Given the description of an element on the screen output the (x, y) to click on. 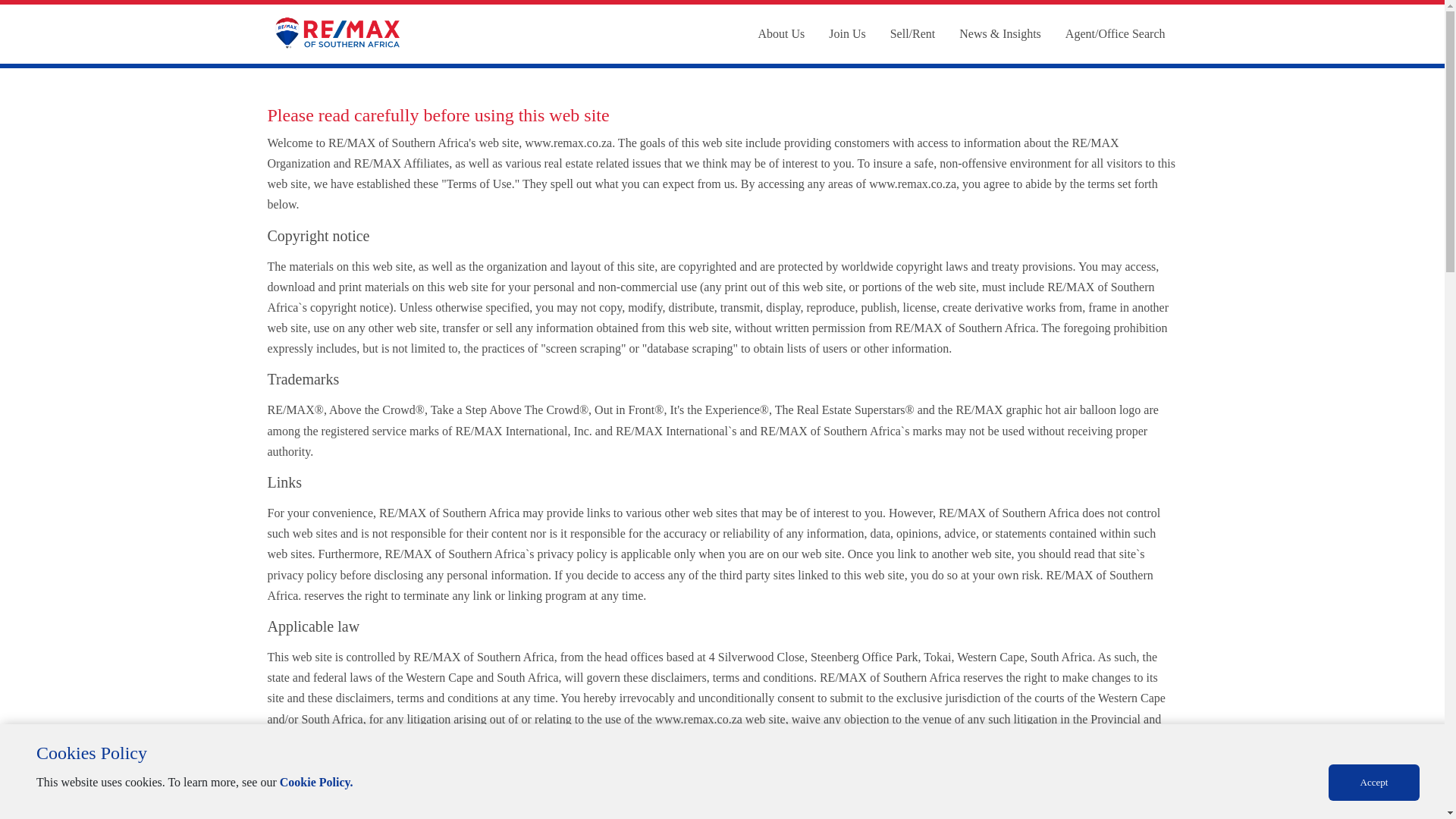
www.remax.co.za (912, 183)
www.remax.co.za (567, 142)
About Us (780, 33)
Join Us (846, 33)
www.remax.co.za (698, 718)
